Given the description of an element on the screen output the (x, y) to click on. 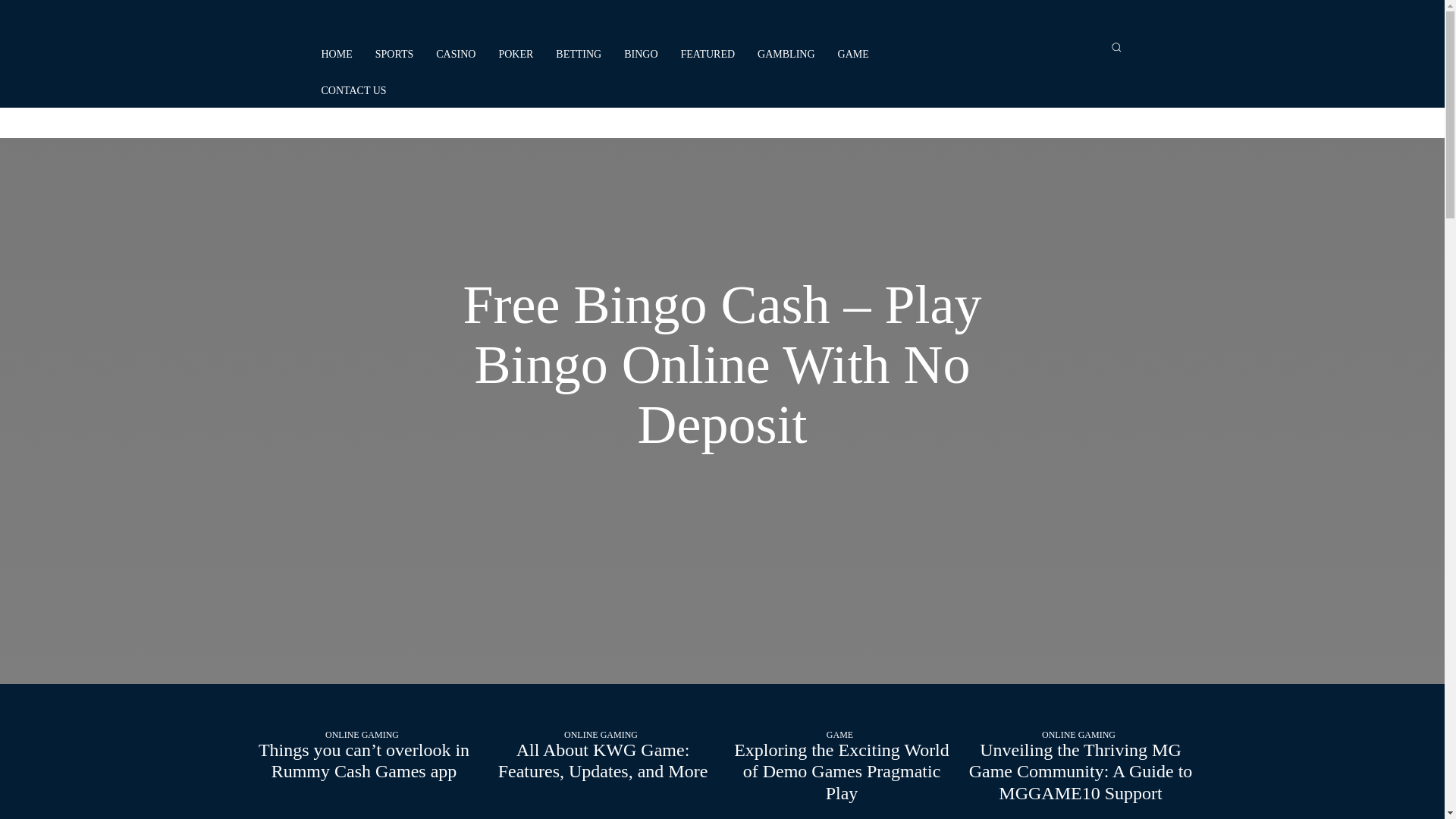
Gianna (692, 122)
CASINO (455, 54)
GIANNA (747, 122)
GAME (853, 54)
Exploring the Exciting World of Demo Games Pragmatic Play (841, 771)
FEATURED (708, 54)
All About KWG Game: Features, Updates, and More (603, 664)
All About KWG Game: Features, Updates, and More (602, 761)
